Given the description of an element on the screen output the (x, y) to click on. 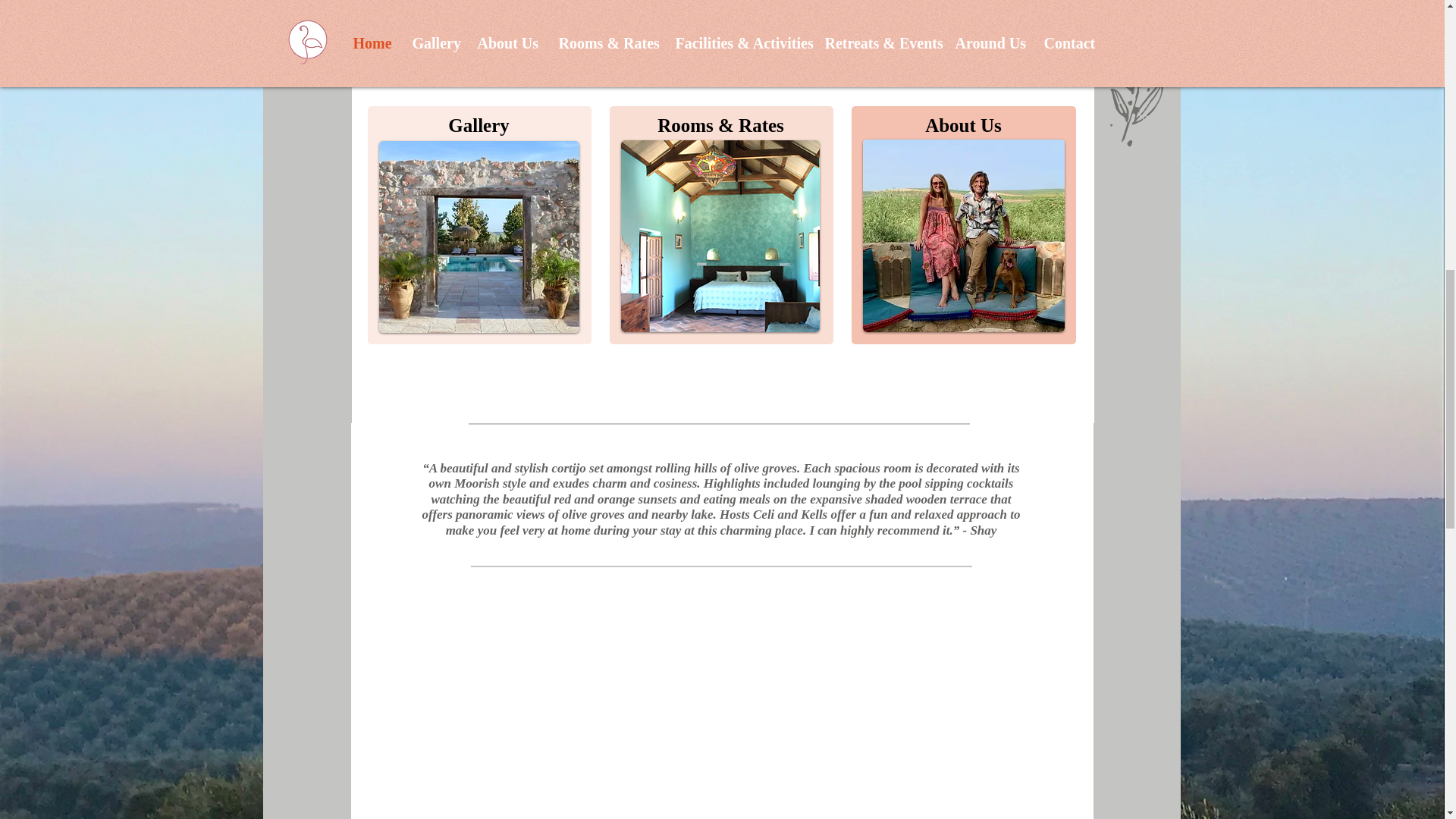
About Us (962, 124)
Gallery (478, 124)
